Given the description of an element on the screen output the (x, y) to click on. 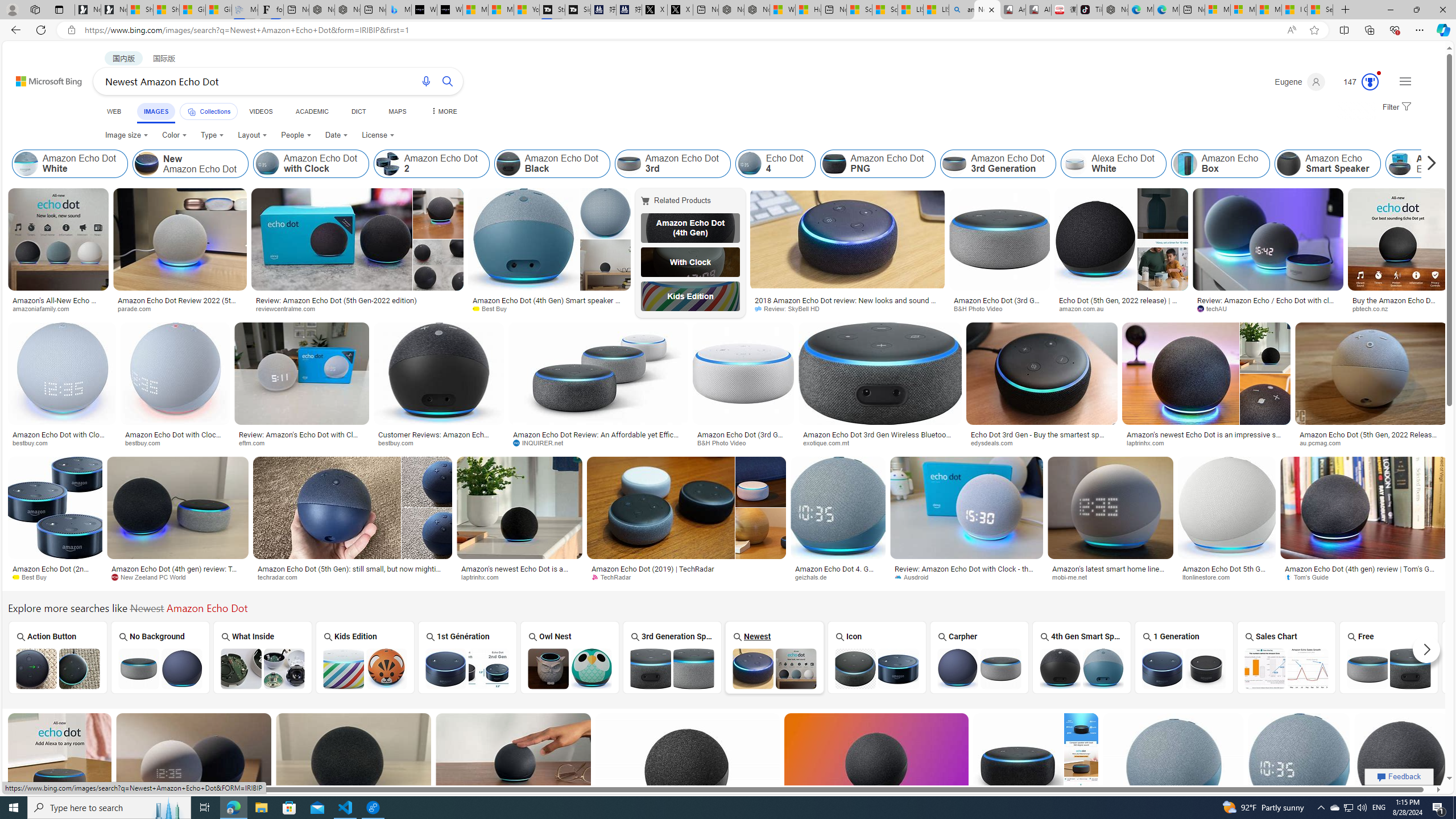
Alex Echo Dot (1399, 163)
DICT (357, 111)
exotique.com.mt (830, 442)
Newest (774, 656)
TikTok (1089, 9)
Image result for Newest Amazon Echo Dot (1401, 764)
IMAGES (156, 112)
Free (1388, 656)
Newest Amazon Echo Dot (774, 668)
Echo Dot with Clock (689, 261)
Type (212, 135)
